Given the description of an element on the screen output the (x, y) to click on. 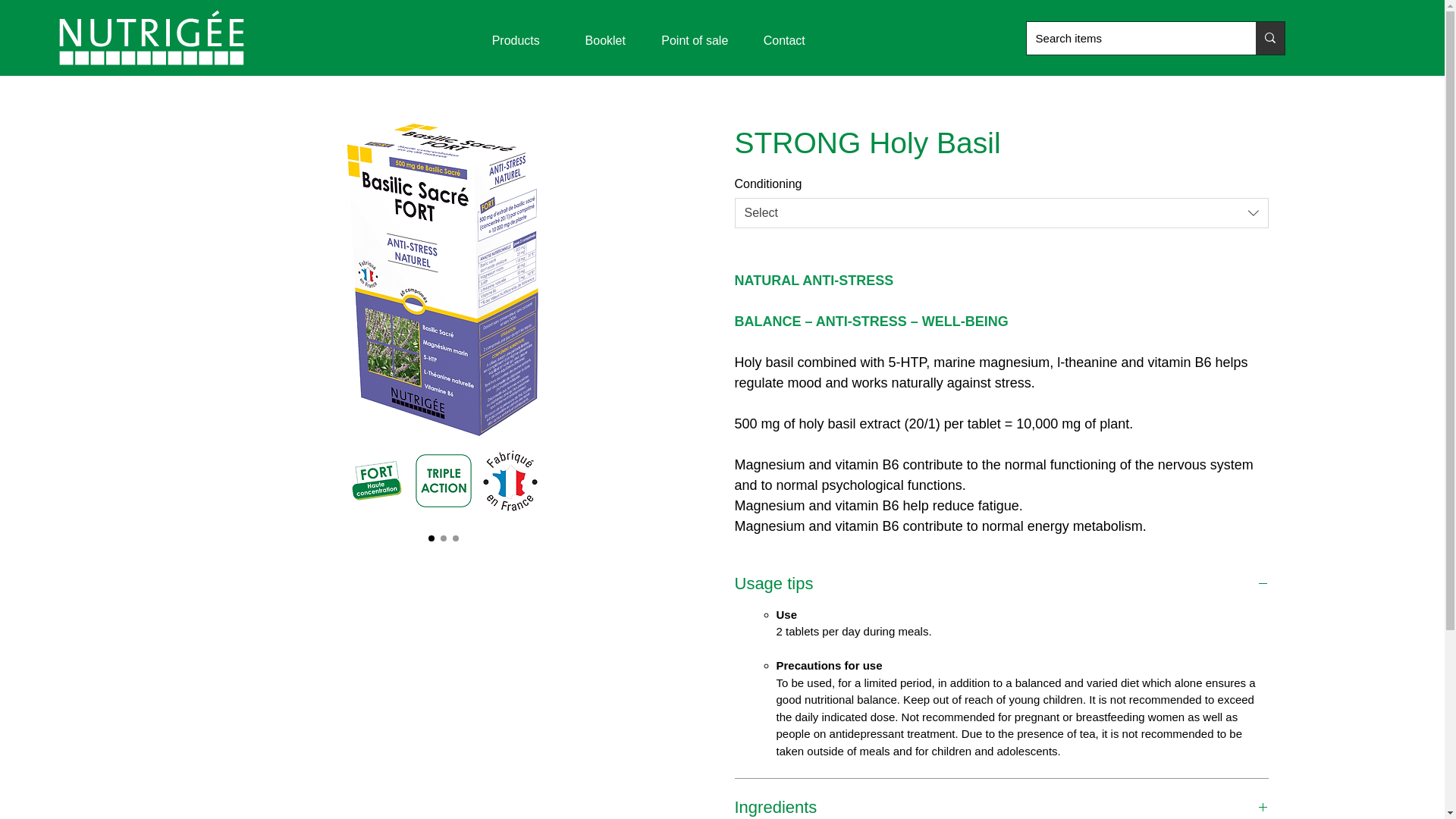
Select (1000, 213)
Contact (783, 40)
Usage tips (1000, 583)
Booklet (604, 40)
Products (515, 40)
Point of sale (694, 40)
Ingredients (1000, 806)
